Given the description of an element on the screen output the (x, y) to click on. 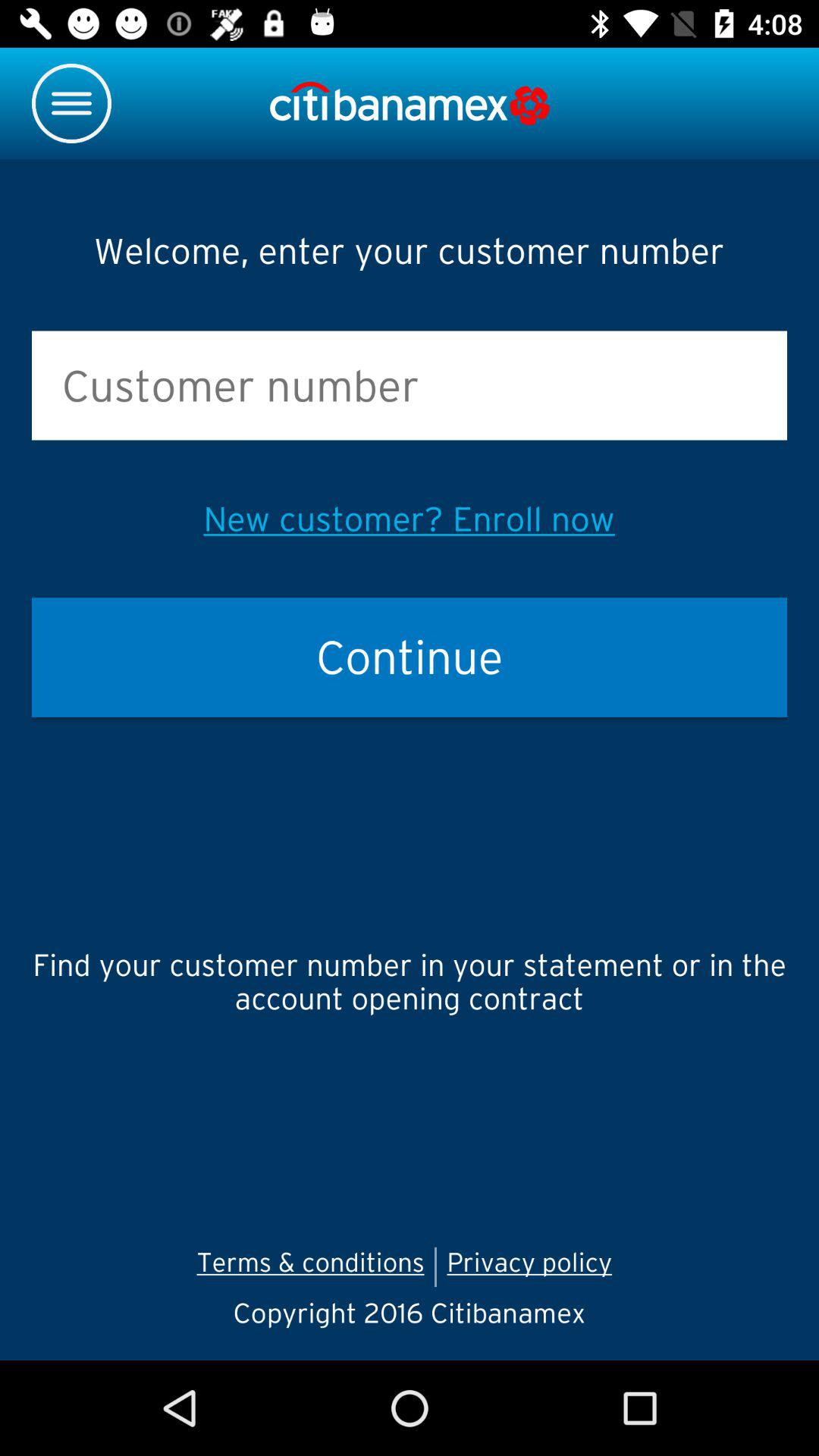
turn on icon above the copyright 2016 citibanamex item (310, 1267)
